Given the description of an element on the screen output the (x, y) to click on. 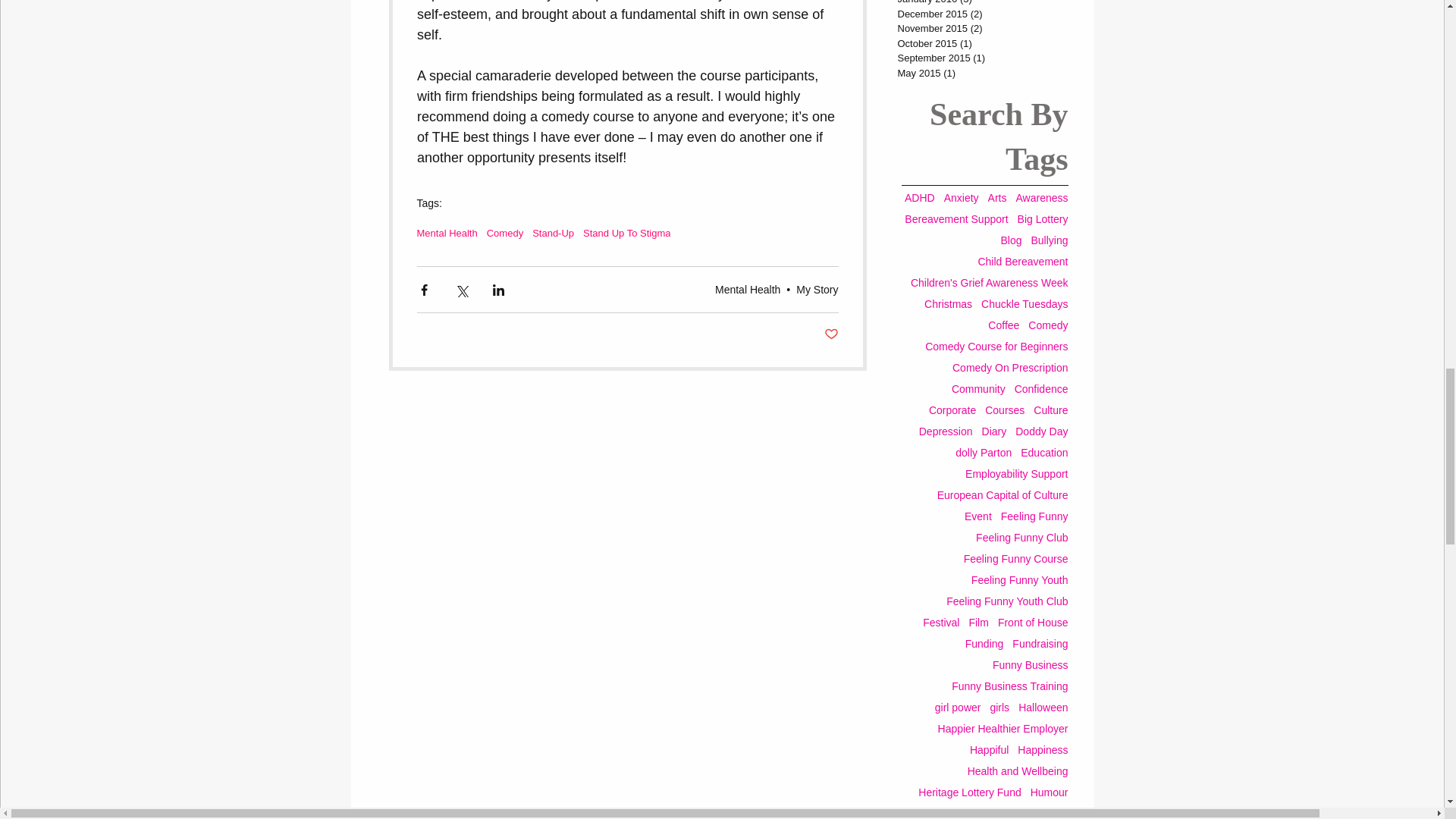
My Story (817, 289)
Stand-Up (552, 233)
Mental Health (446, 233)
Comedy (504, 233)
Mental Health (747, 289)
Stand Up To Stigma (626, 233)
Post not marked as liked (831, 334)
